Given the description of an element on the screen output the (x, y) to click on. 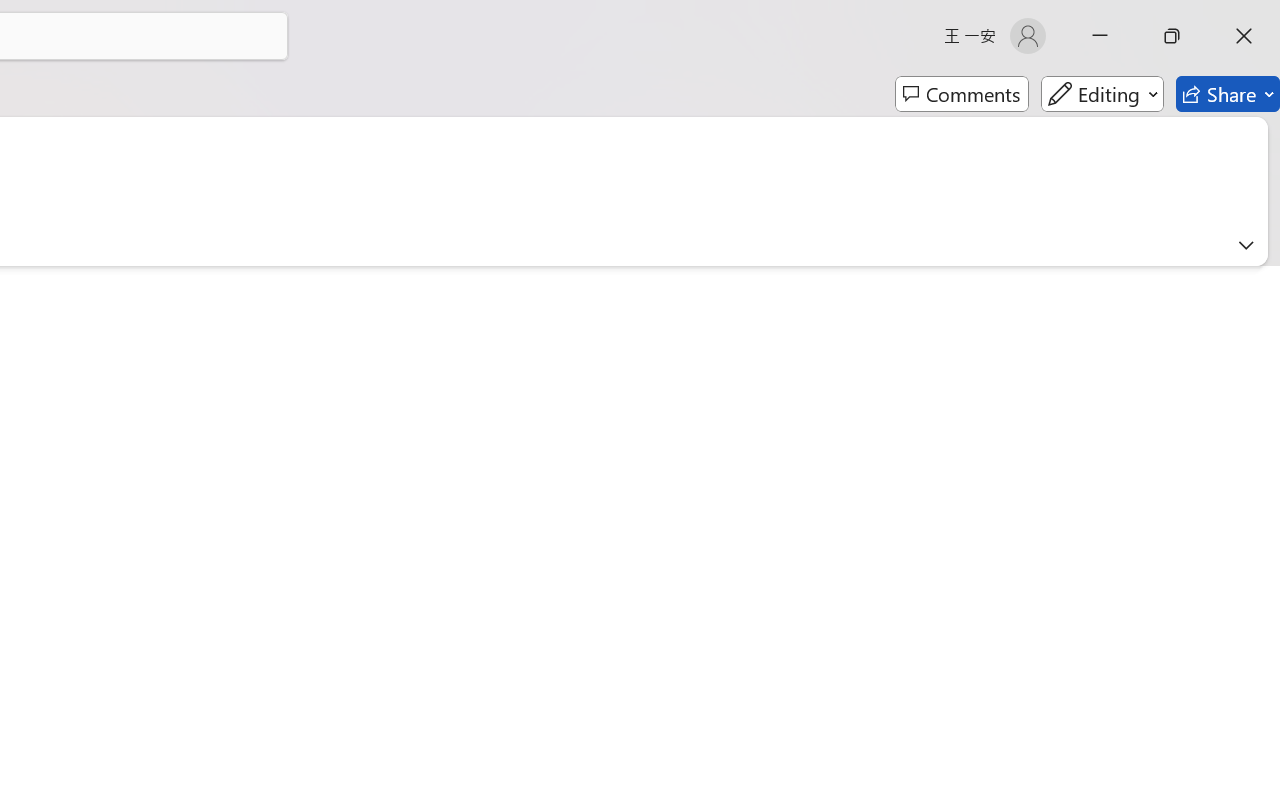
Editing (1101, 94)
Comments (961, 94)
Restore Down (1172, 36)
Close (1244, 36)
Ribbon Display Options (1246, 245)
Share (1228, 94)
Minimize (1099, 36)
